Given the description of an element on the screen output the (x, y) to click on. 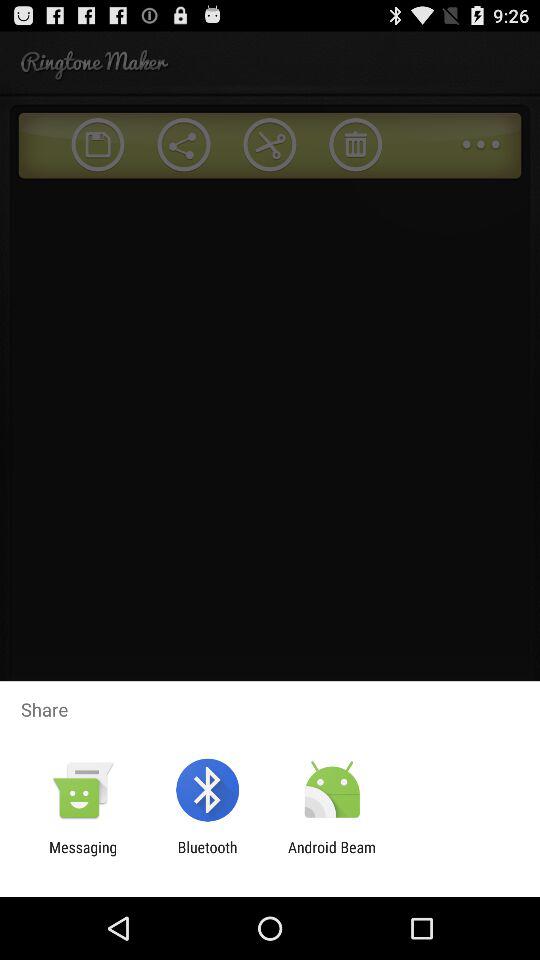
launch the app next to messaging item (207, 856)
